Given the description of an element on the screen output the (x, y) to click on. 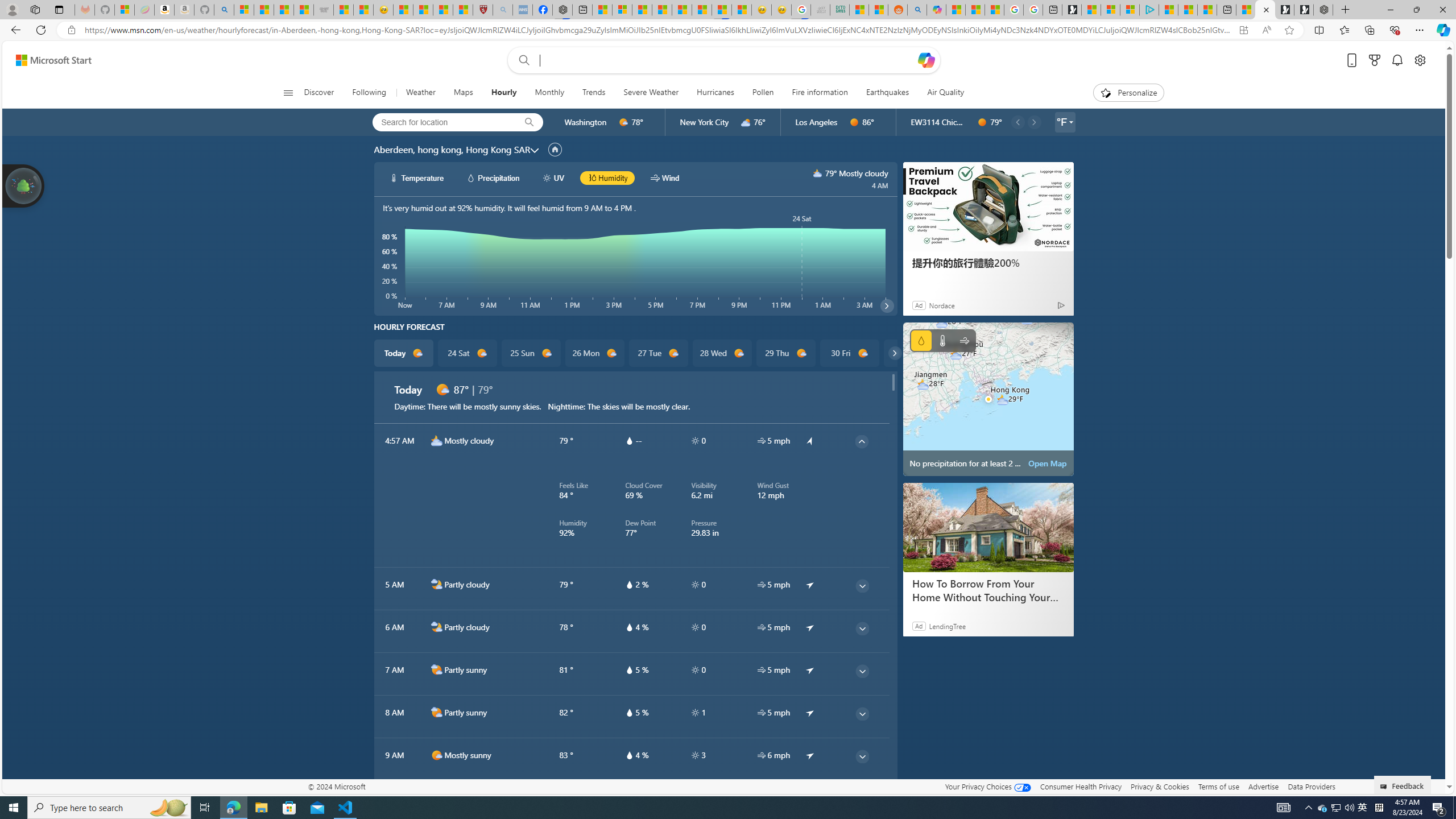
hourlyChart/temperatureWhite Temperature (416, 178)
Data Providers (1311, 786)
common/thinArrow (861, 798)
Open Map (1047, 463)
